Given the description of an element on the screen output the (x, y) to click on. 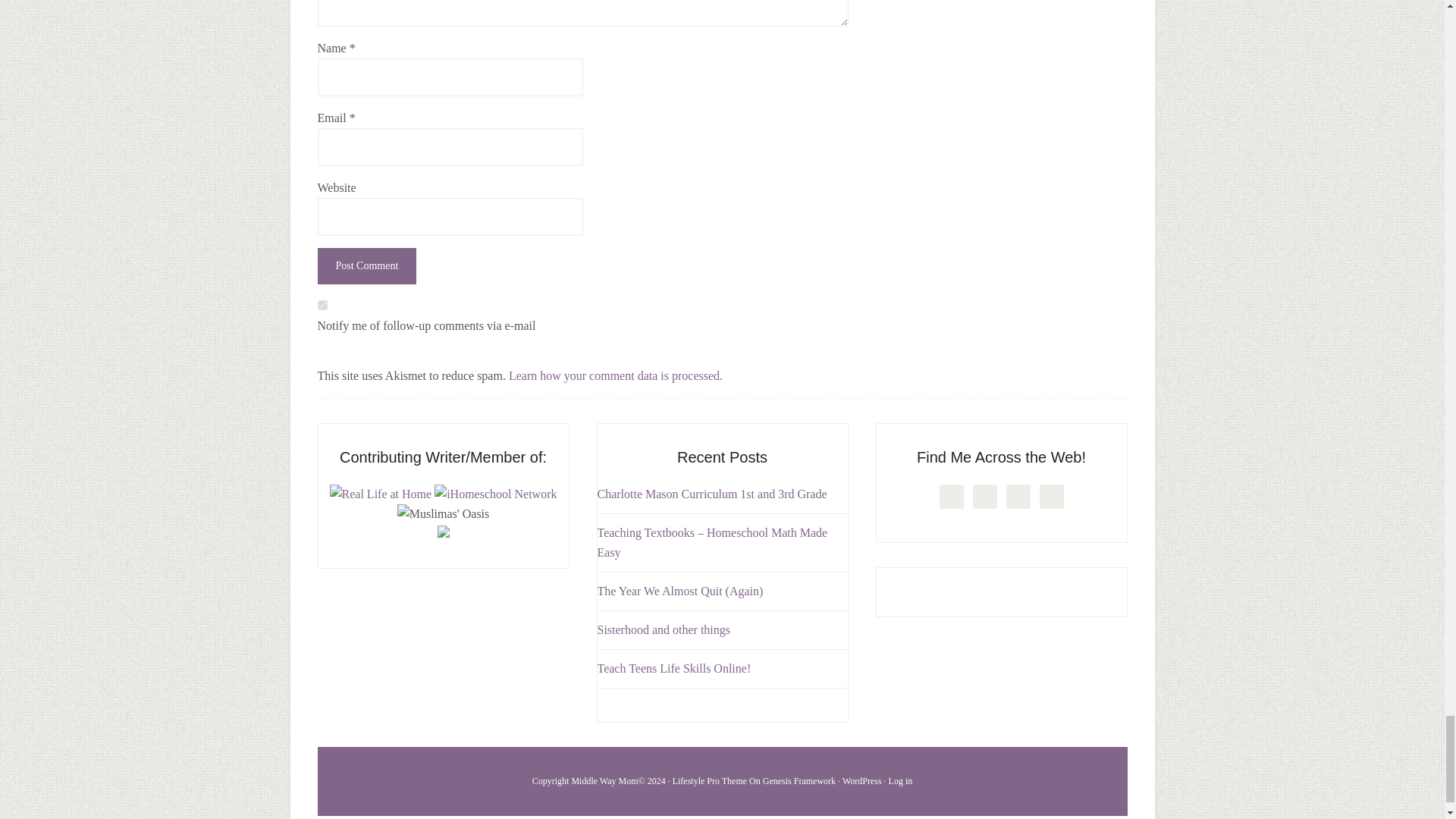
iHomeschool Network (494, 493)
Post Comment (366, 266)
Proud Member of the Kid Blogger Network (442, 533)
Real Life at Home (381, 493)
